Given the description of an element on the screen output the (x, y) to click on. 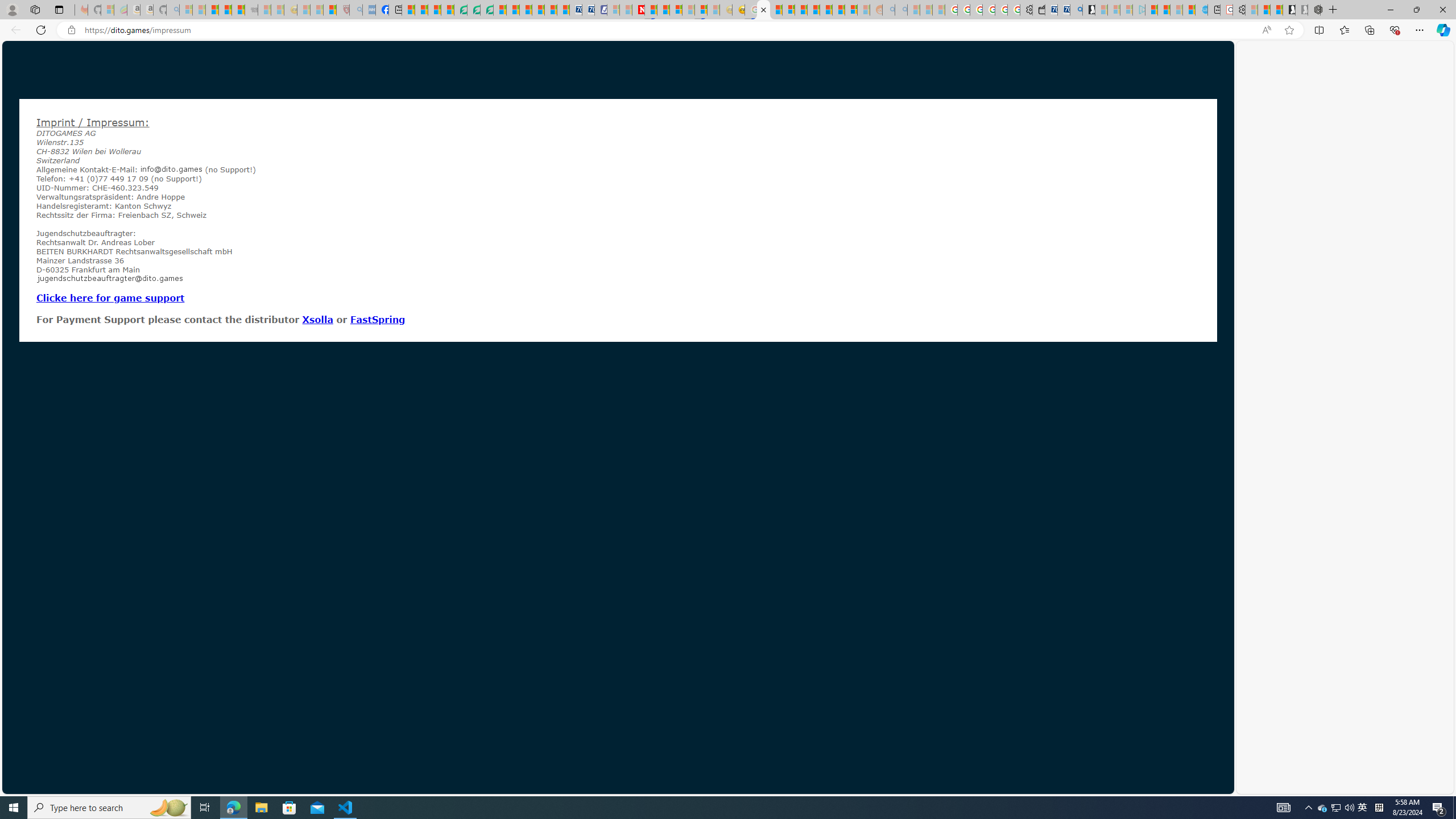
Utah sues federal government - Search - Sleeping (900, 9)
Student Loan Update: Forgiveness Program Ends This Month (813, 9)
Cheap Car Rentals - Save70.com (1063, 9)
